Given the description of an element on the screen output the (x, y) to click on. 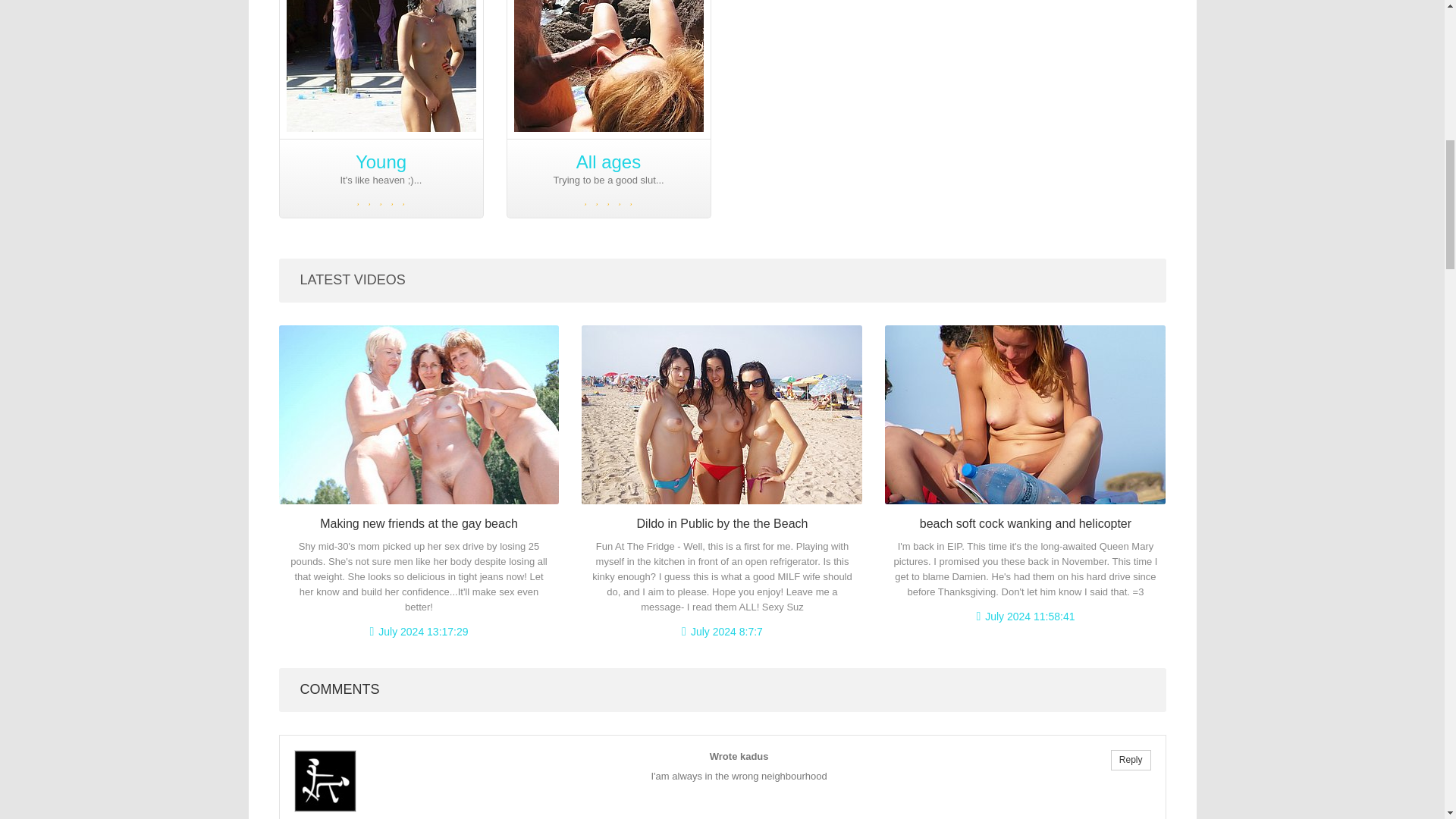
Dildo in Public by the the Beach (722, 522)
CLOSE UP (326, 20)
PHOTOS (553, 20)
beach soft cock wanking and helicopter (1025, 522)
Reply (1130, 760)
LATEST VIDEOS (352, 279)
Making new friends at the gay beach (419, 522)
